Given the description of an element on the screen output the (x, y) to click on. 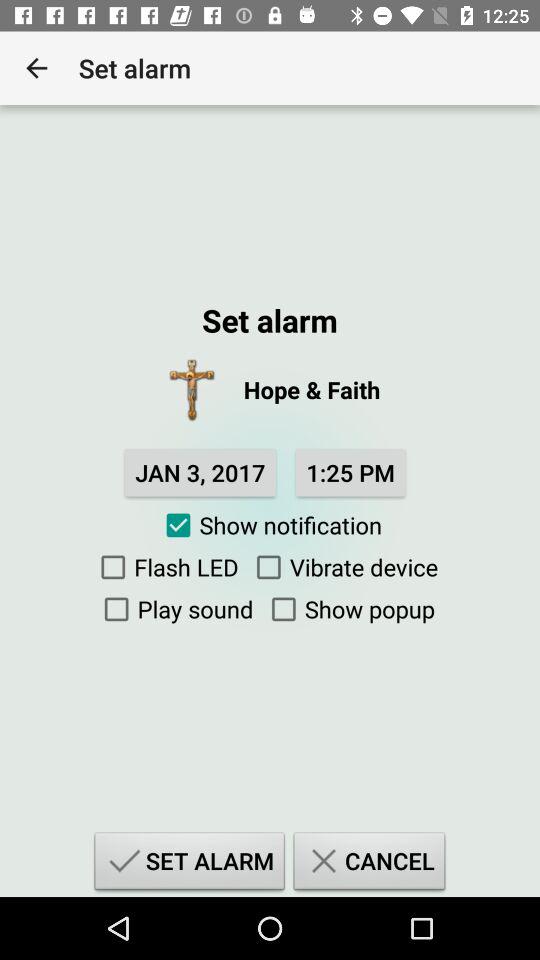
select the item next to the play sound icon (348, 609)
